Given the description of an element on the screen output the (x, y) to click on. 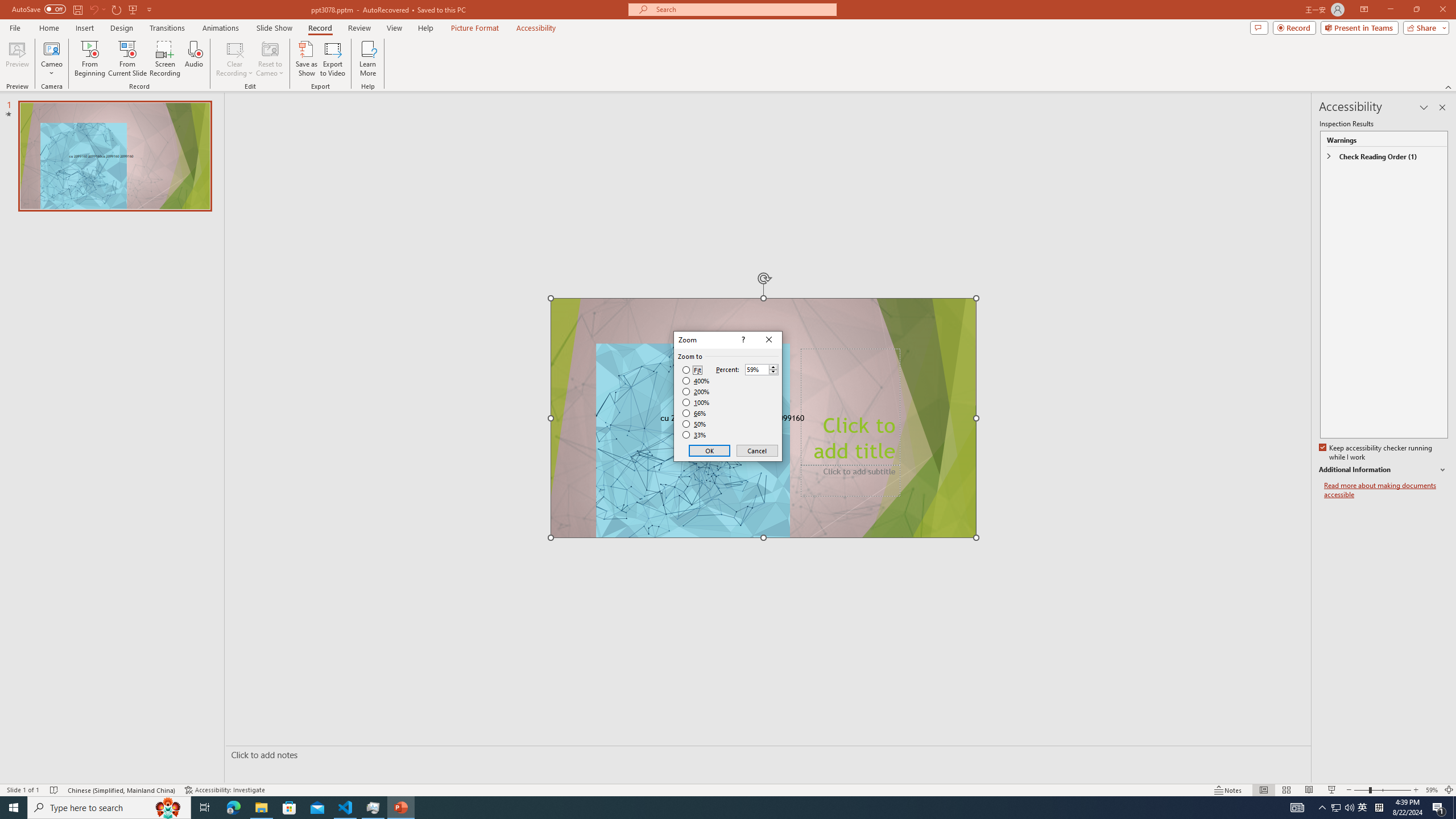
Zoom 59% (1431, 790)
Cameo (51, 48)
User Promoted Notification Area (1342, 807)
50% (694, 424)
PowerPoint - 1 running window (400, 807)
From Current Slide... (127, 58)
Read more about making documents accessible (1385, 489)
Running applications (707, 807)
